Given the description of an element on the screen output the (x, y) to click on. 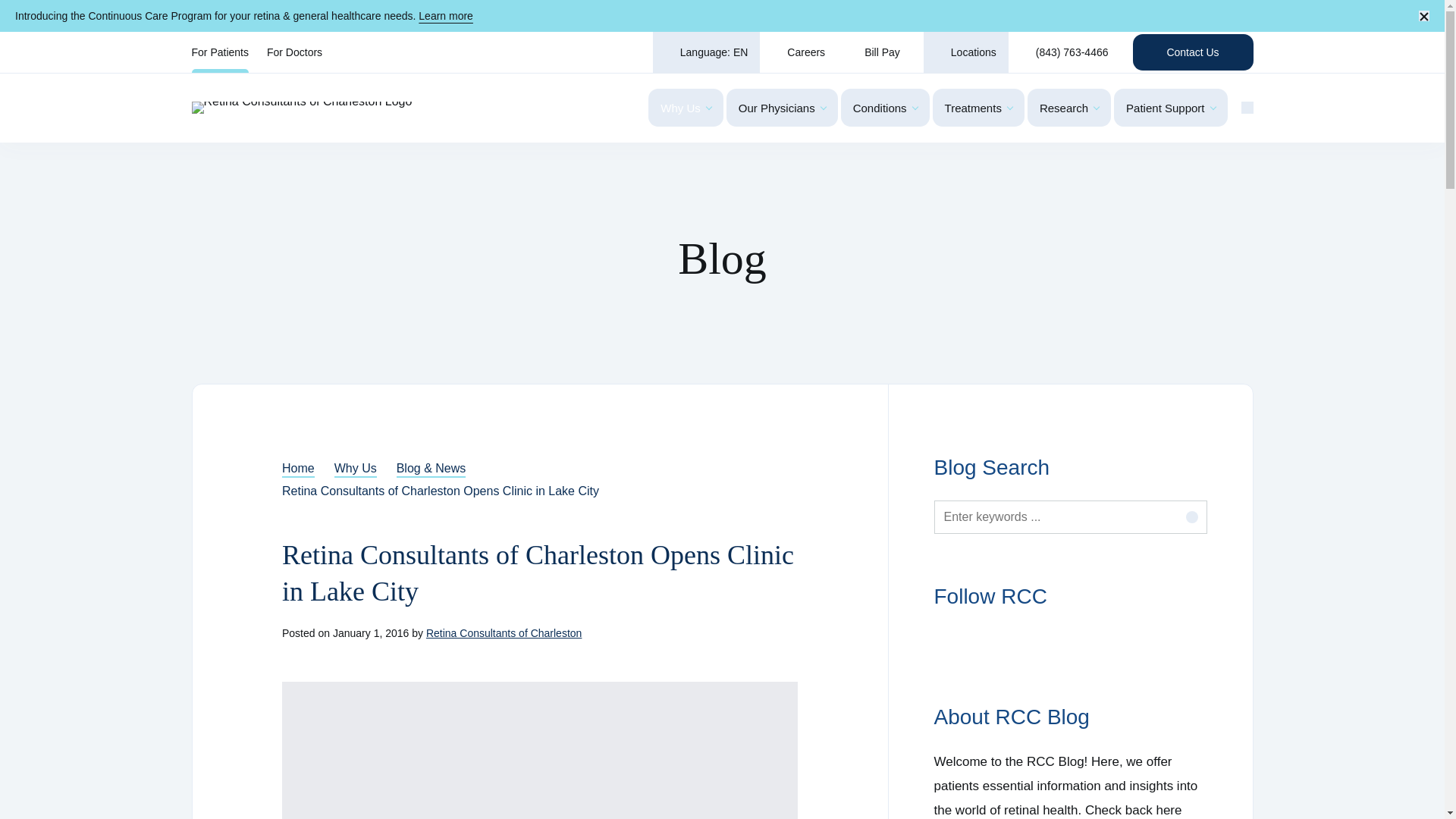
Why Us (685, 107)
Language: EN (706, 51)
For Doctors (293, 51)
For Patients (218, 51)
Contact Us (1192, 52)
Locations (966, 51)
Bill Pay (880, 51)
Careers (798, 51)
Learn more (446, 15)
